Given the description of an element on the screen output the (x, y) to click on. 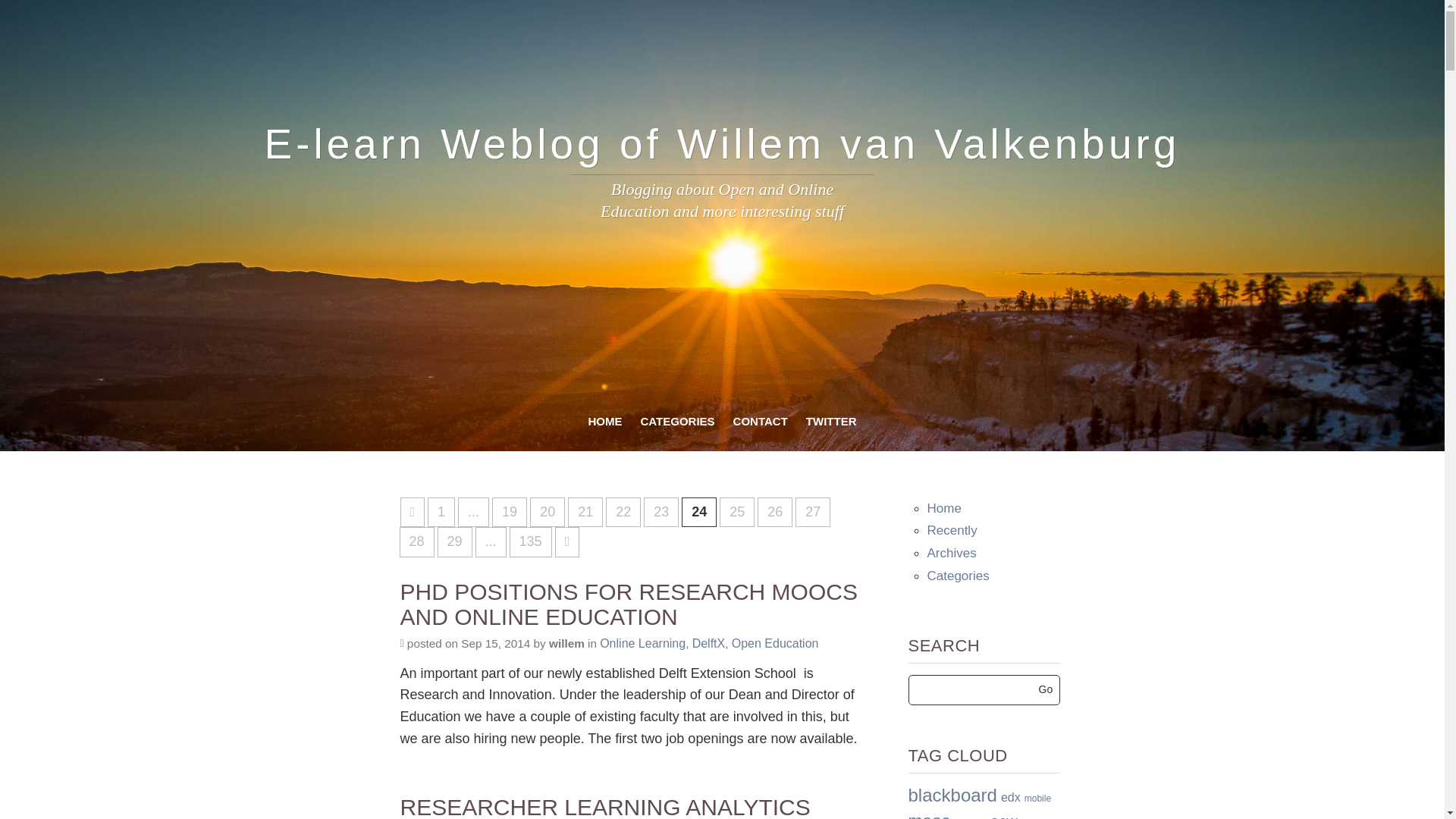
19 (509, 512)
PHD POSITIONS FOR RESEARCH MOOCS AND ONLINE EDUCATION (635, 604)
Browse category (642, 643)
Go (1045, 689)
Browse category (709, 643)
25 (736, 512)
21 (584, 512)
... (473, 512)
... (491, 542)
CONTACT (759, 421)
TWITTER (831, 421)
135 (530, 542)
27 (811, 512)
1 (441, 512)
20 (546, 512)
